Given the description of an element on the screen output the (x, y) to click on. 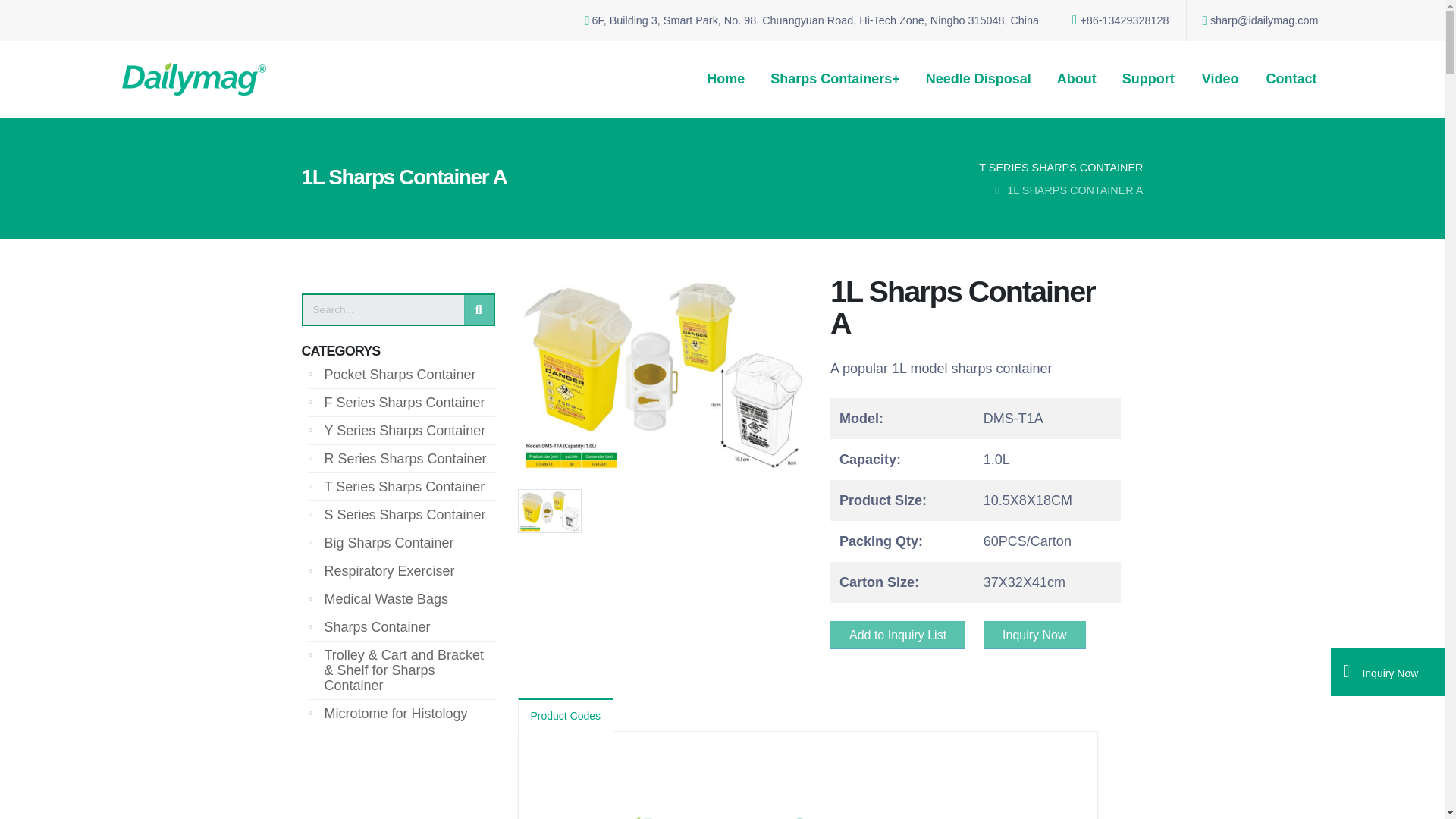
Home (725, 79)
